Given the description of an element on the screen output the (x, y) to click on. 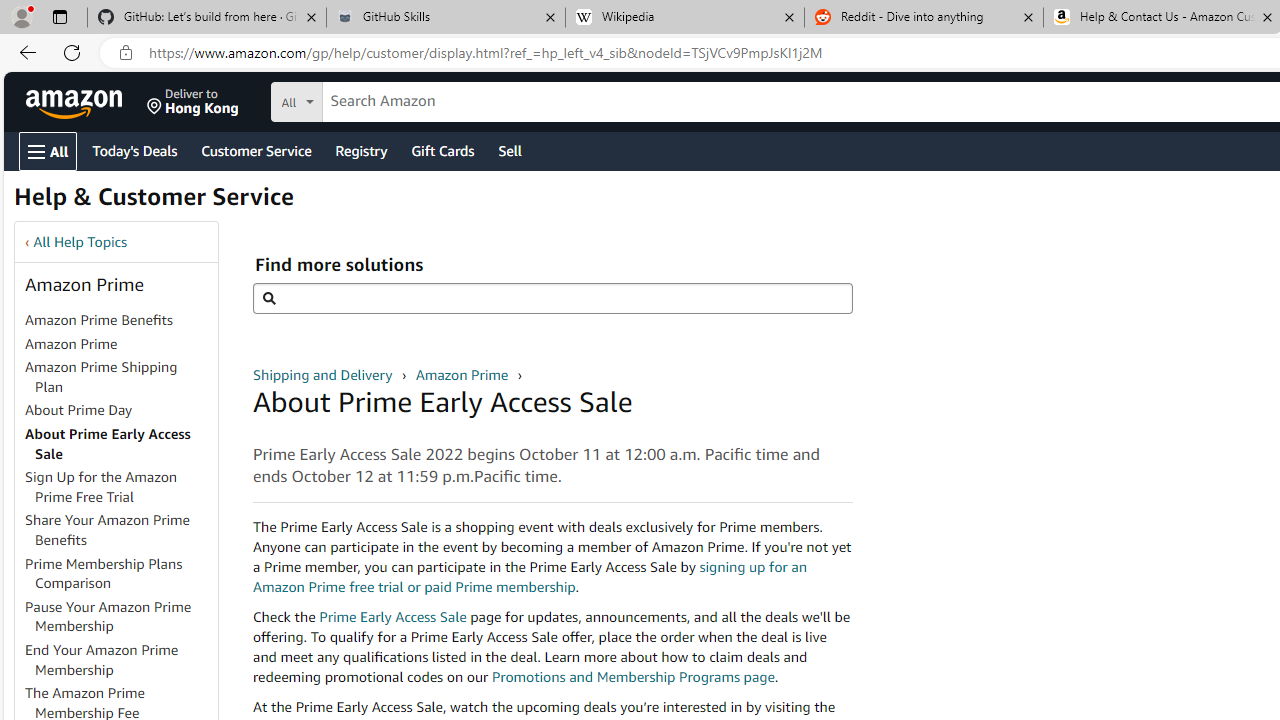
Shipping and Delivery  (324, 374)
